Given the description of an element on the screen output the (x, y) to click on. 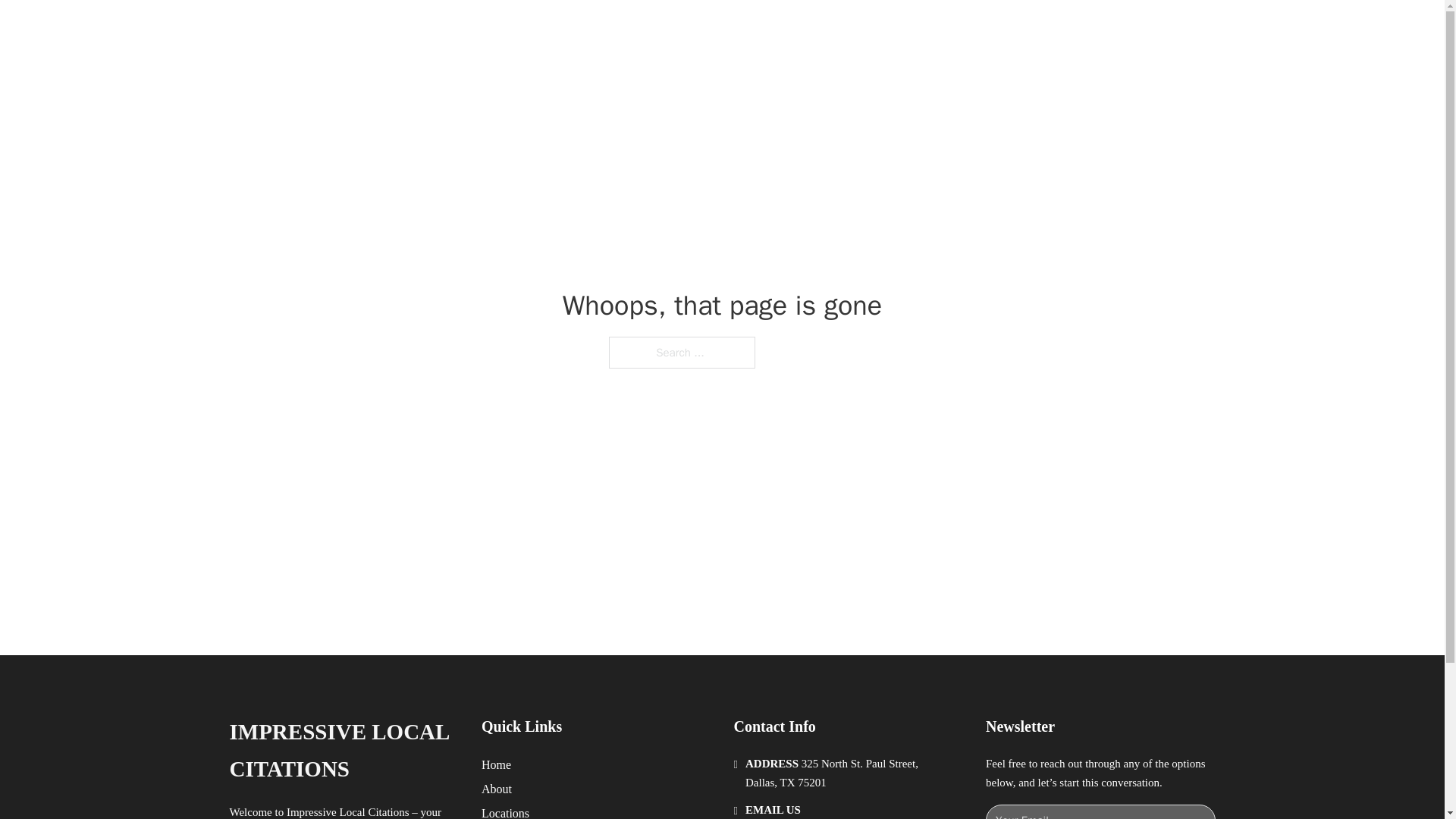
About (496, 788)
Home (496, 764)
LOCATIONS (990, 29)
Locations (505, 811)
IMPRESSIVE LOCAL CITATIONS (458, 28)
HOME (919, 29)
IMPRESSIVE LOCAL CITATIONS (343, 750)
